Given the description of an element on the screen output the (x, y) to click on. 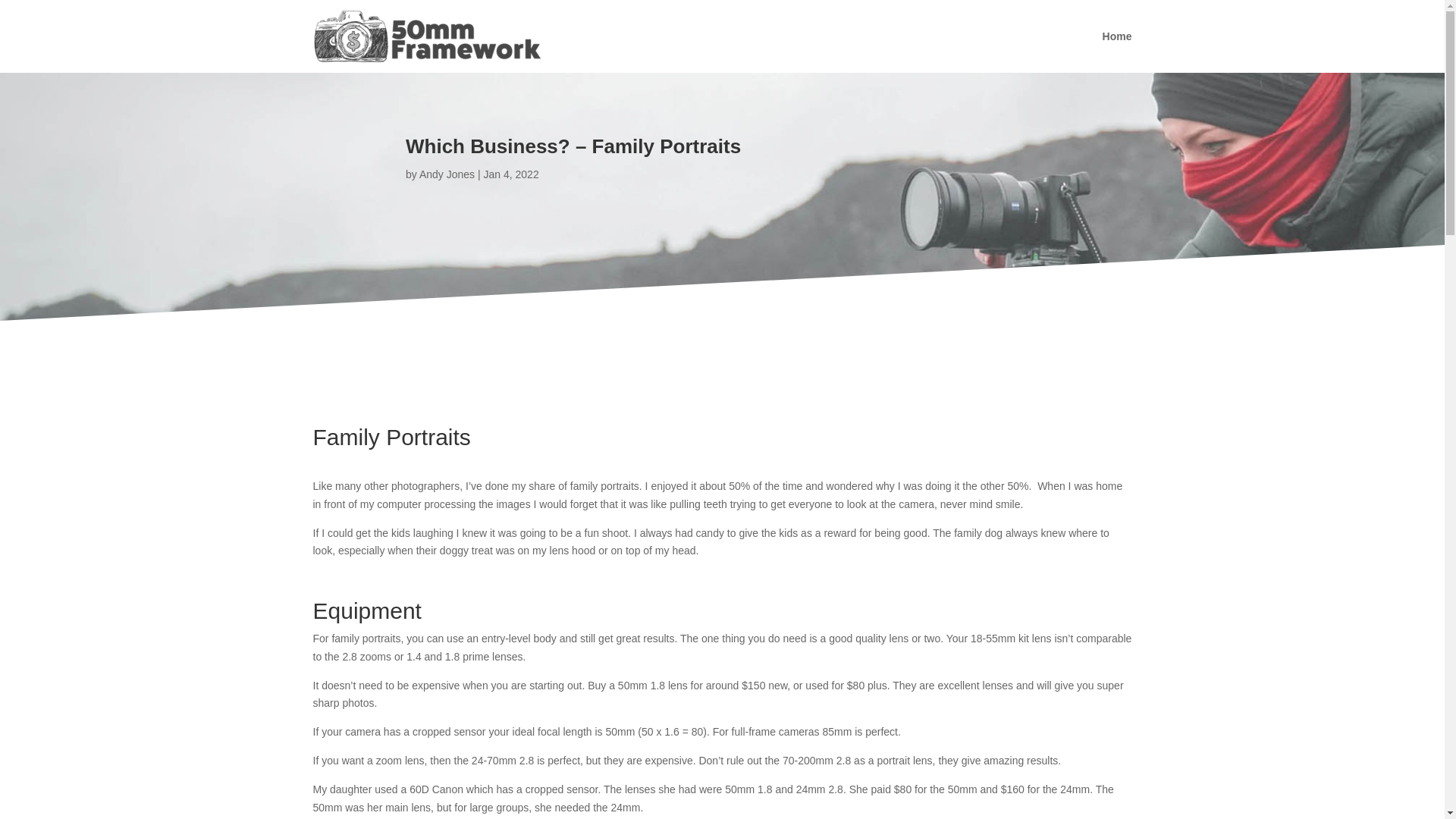
Andy Jones (446, 174)
Home (1117, 36)
Posts by Andy Jones (446, 174)
